Given the description of an element on the screen output the (x, y) to click on. 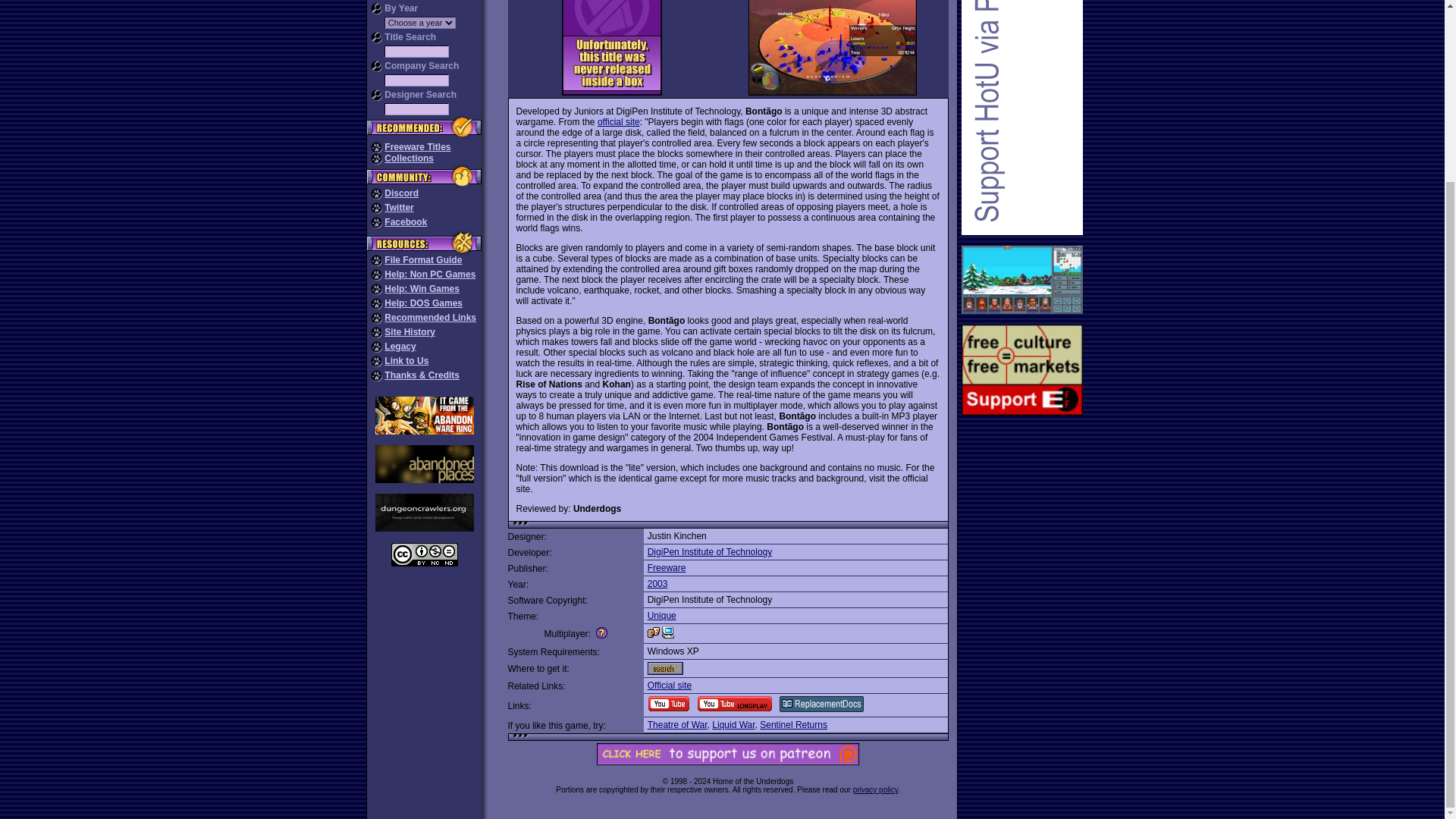
Twitter (398, 207)
Help: Win Games (422, 288)
File Format Guide (422, 259)
Recommended Links (430, 317)
Help: DOS Games (423, 303)
Facebook (405, 222)
Legacy (399, 346)
Link to Us (406, 360)
Freeware Titles (416, 146)
Collections (408, 158)
Help: Non PC Games (430, 274)
Discord (401, 193)
Site History (409, 331)
